Given the description of an element on the screen output the (x, y) to click on. 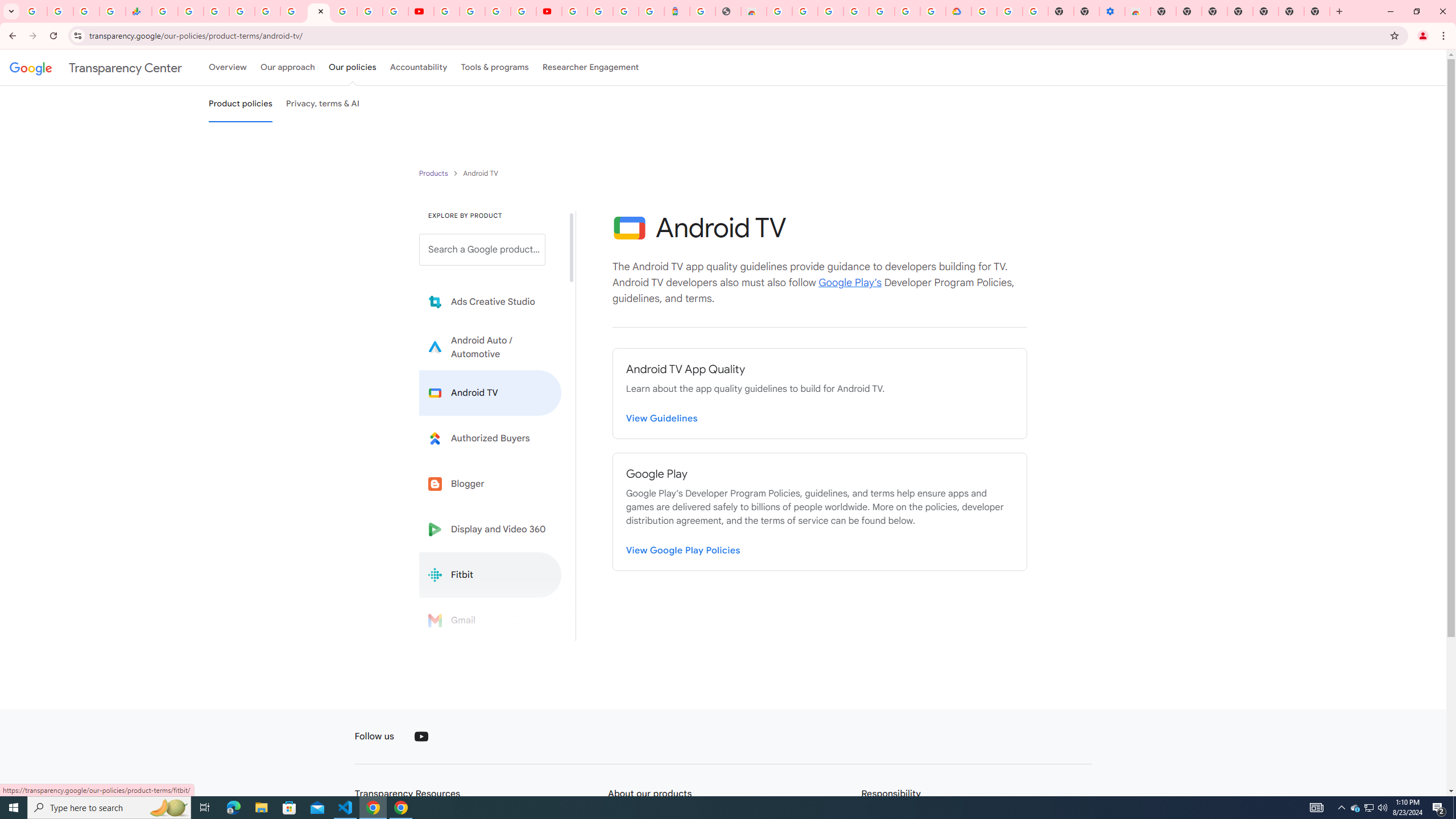
Google Account Help (1009, 11)
Display and Video 360 (490, 529)
Android TV Policies and Guidelines - Transparency Center (318, 11)
Sign in - Google Accounts (242, 11)
Blogger (490, 483)
Google Account Help (472, 11)
Create your Google Account (497, 11)
Gmail (490, 619)
